Given the description of an element on the screen output the (x, y) to click on. 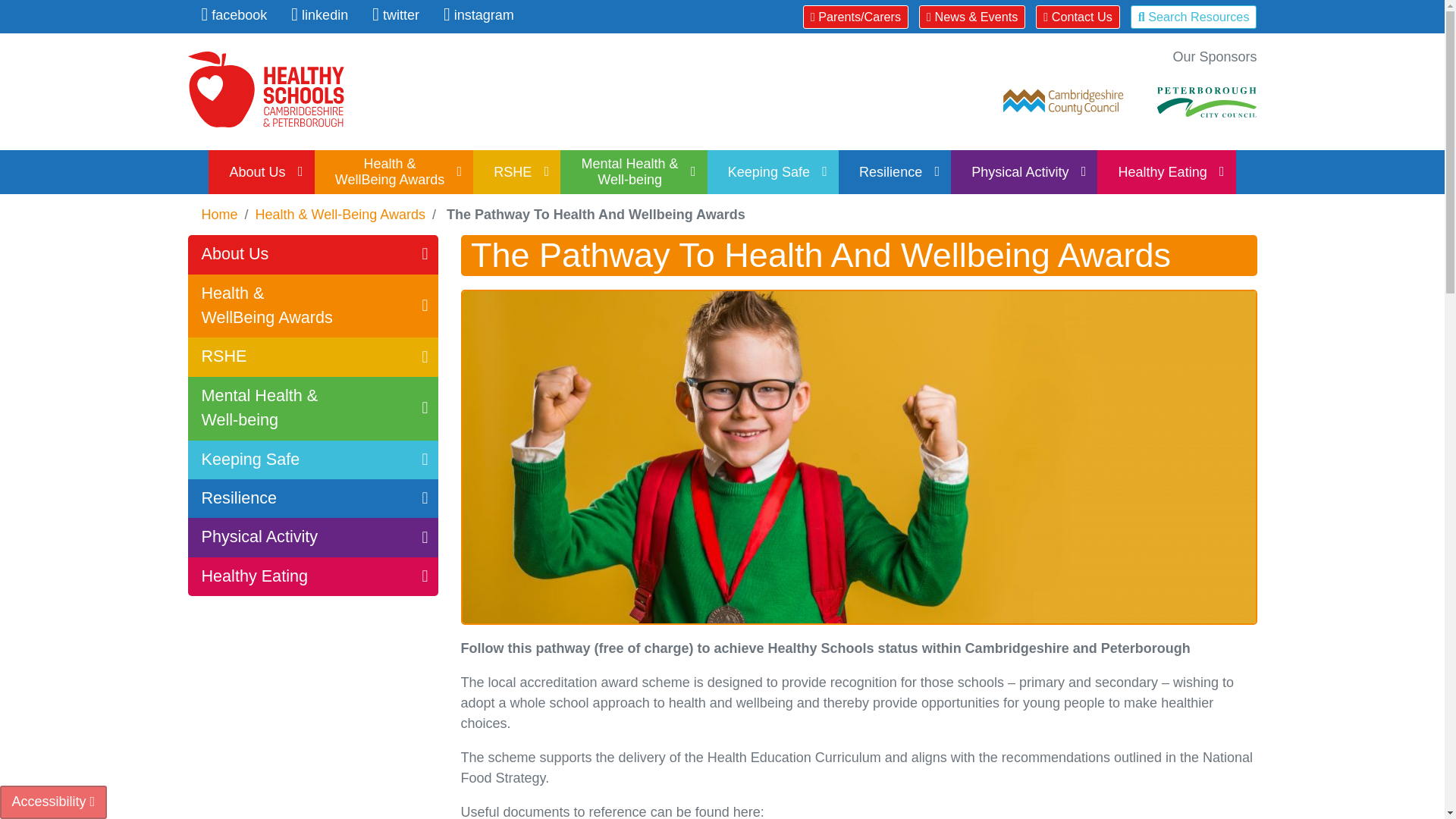
Contact Us (1077, 16)
About Healthy Schools (261, 171)
instagram (478, 14)
About Healthy Schools (312, 254)
linkedin (319, 14)
About Us (261, 171)
RSHE (516, 171)
facebook (234, 14)
twitter (395, 14)
Search Resources (1193, 16)
